Given the description of an element on the screen output the (x, y) to click on. 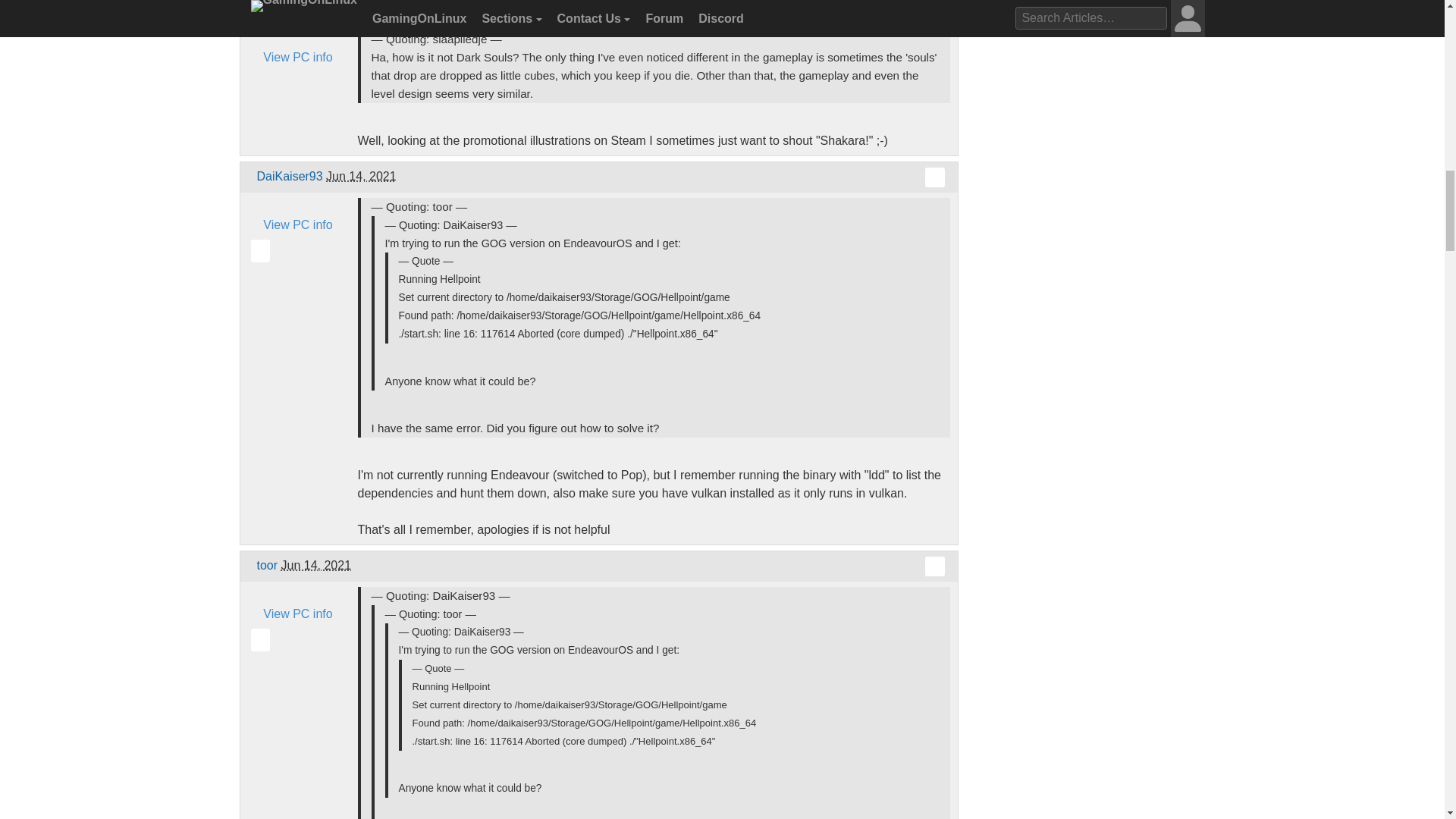
Link to this comment (934, 9)
Link to this comment (934, 566)
Link to this comment (934, 177)
